Given the description of an element on the screen output the (x, y) to click on. 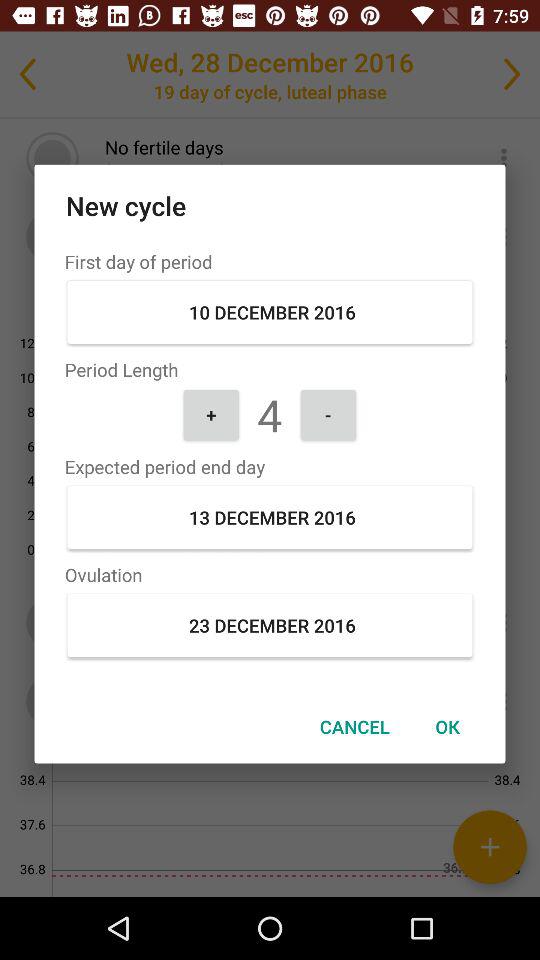
tap the icon below  23 december 2016 item (447, 726)
